Given the description of an element on the screen output the (x, y) to click on. 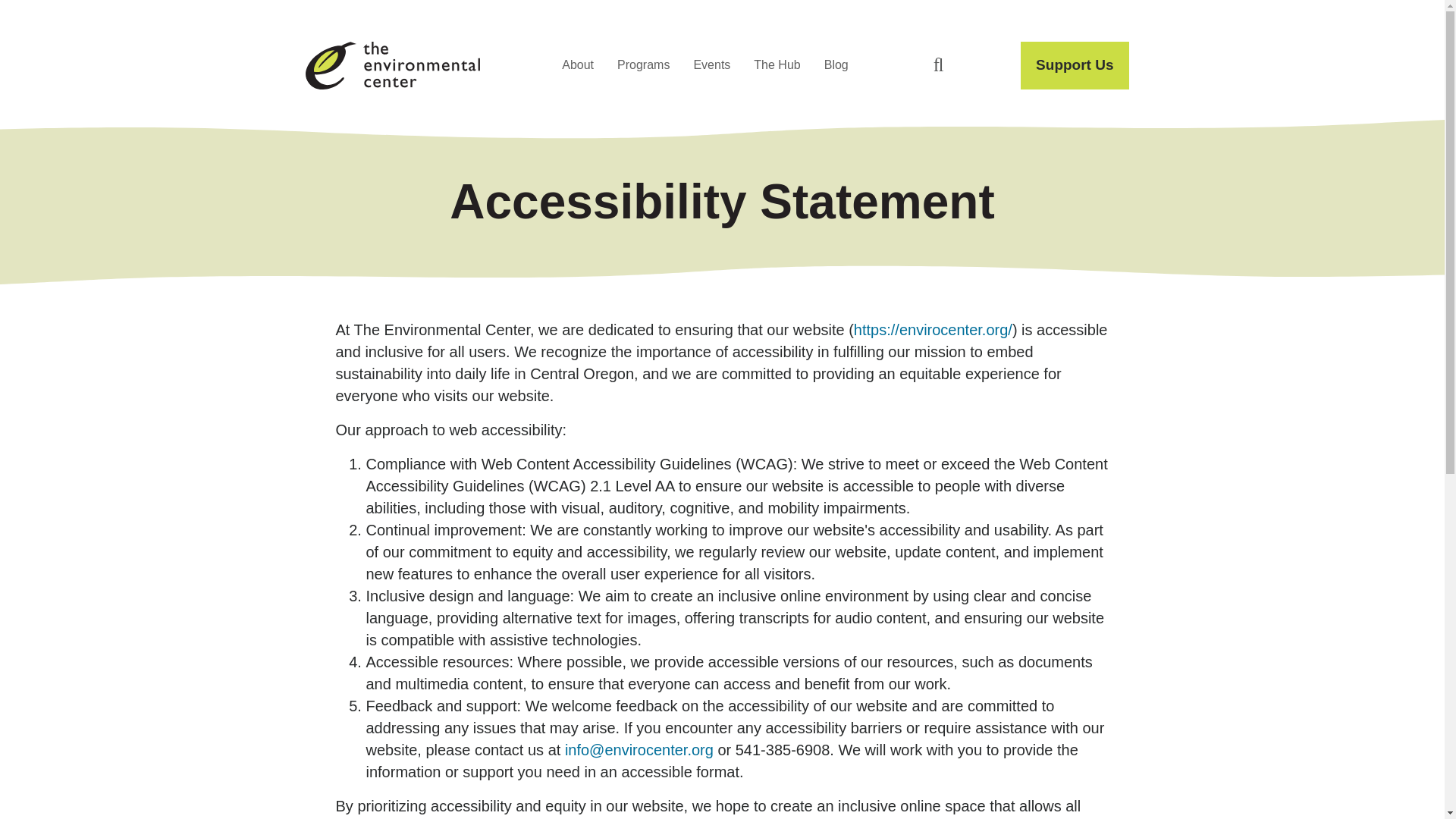
Blog (836, 64)
About (577, 64)
Programs (643, 64)
The Hub (776, 64)
Events (711, 64)
Support Us (1074, 65)
Support Us (1074, 65)
